Given the description of an element on the screen output the (x, y) to click on. 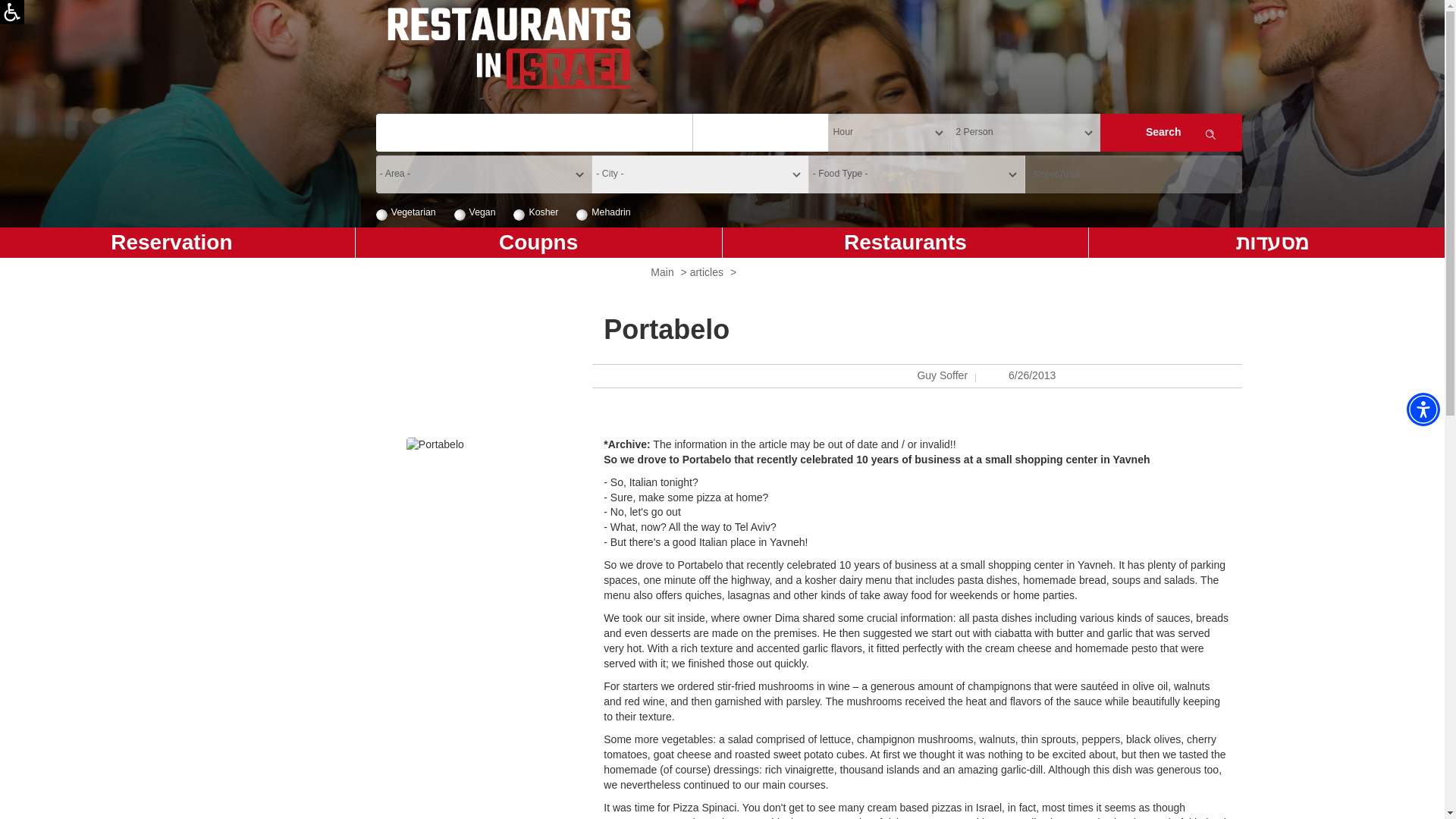
Search (1170, 132)
Choose Date (760, 132)
Area (483, 174)
Coupns (538, 242)
Reservation (177, 242)
Food Type (917, 174)
Restaurants (904, 242)
Search (1170, 132)
Free Search: Restraurant in Tel aviv ... (534, 132)
Search (1170, 132)
City (700, 174)
articles. (706, 272)
Street or Area (1133, 174)
articles (706, 272)
Choose Hour (889, 132)
